Given the description of an element on the screen output the (x, y) to click on. 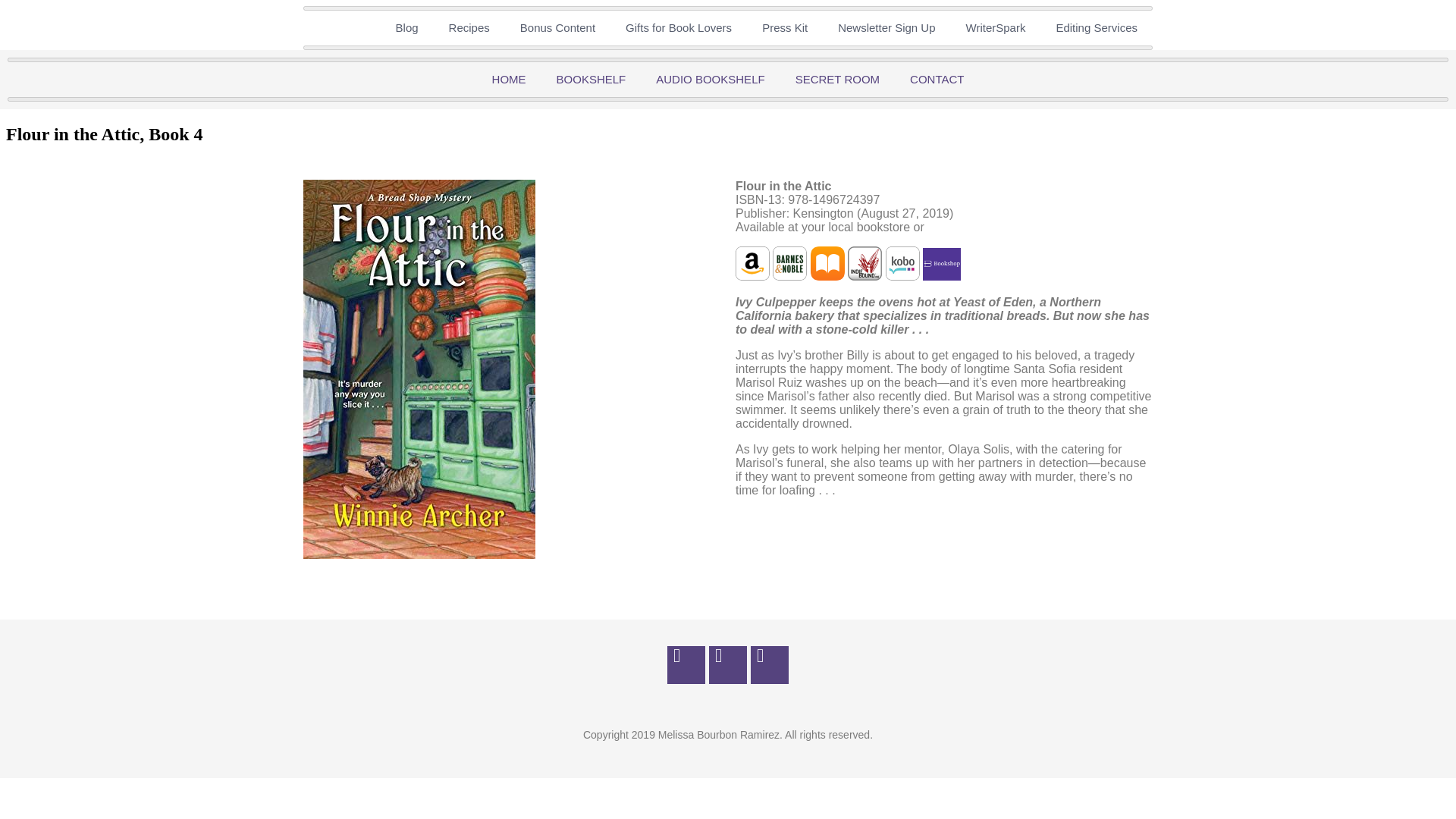
CONTACT (936, 79)
Recipes (469, 27)
Press Kit (784, 27)
Gifts for Book Lovers (678, 27)
WriterSpark (995, 27)
Blog (406, 27)
Newsletter Sign Up (886, 27)
Bonus Content (557, 27)
BOOKSHELF (591, 79)
AUDIO BOOKSHELF (709, 79)
